Given the description of an element on the screen output the (x, y) to click on. 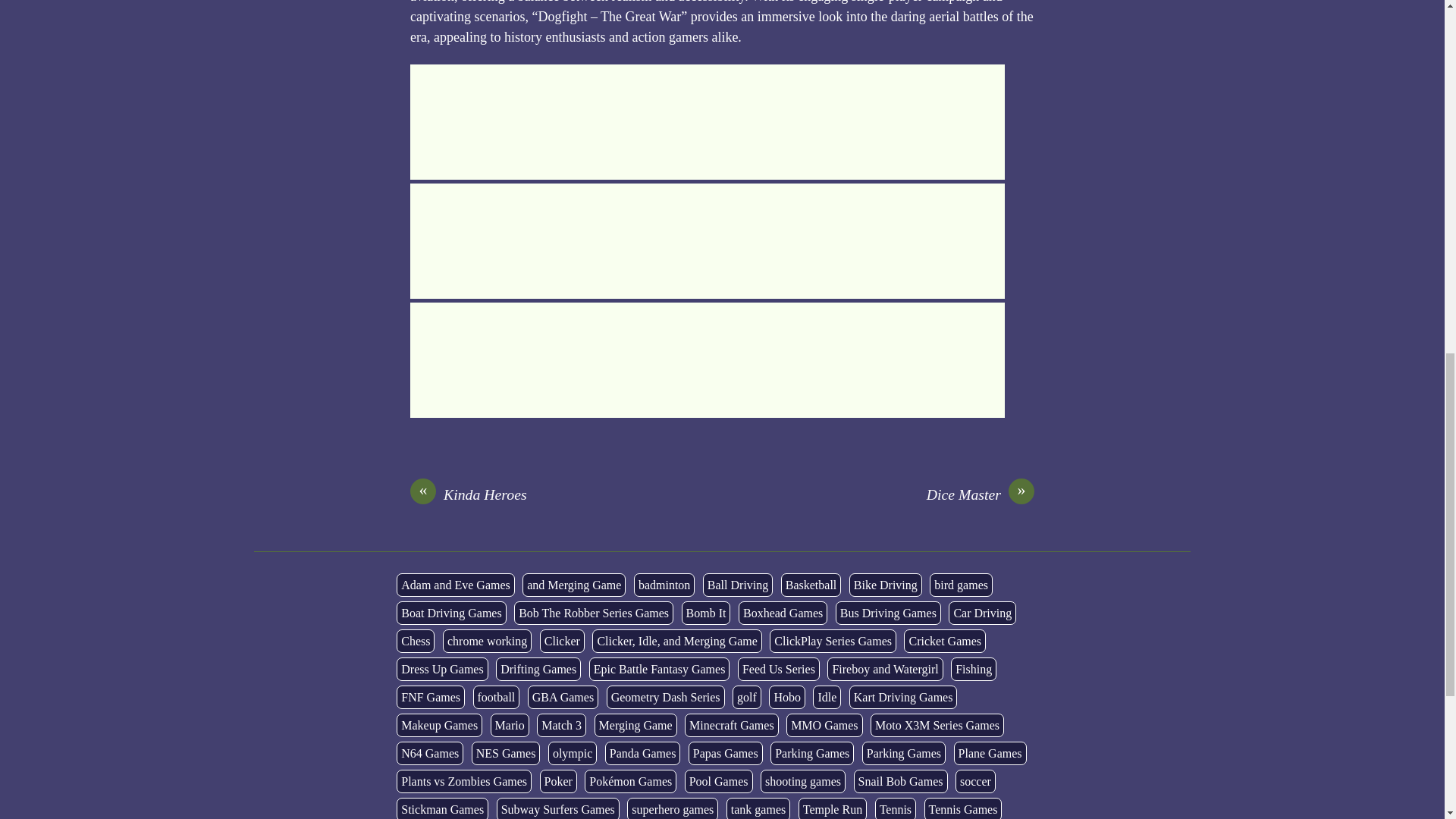
Ball Driving (738, 585)
Adam and Eve Games (455, 585)
and Merging Game (574, 585)
Bike Driving (884, 585)
Basketball (810, 585)
badminton (663, 585)
